Given the description of an element on the screen output the (x, y) to click on. 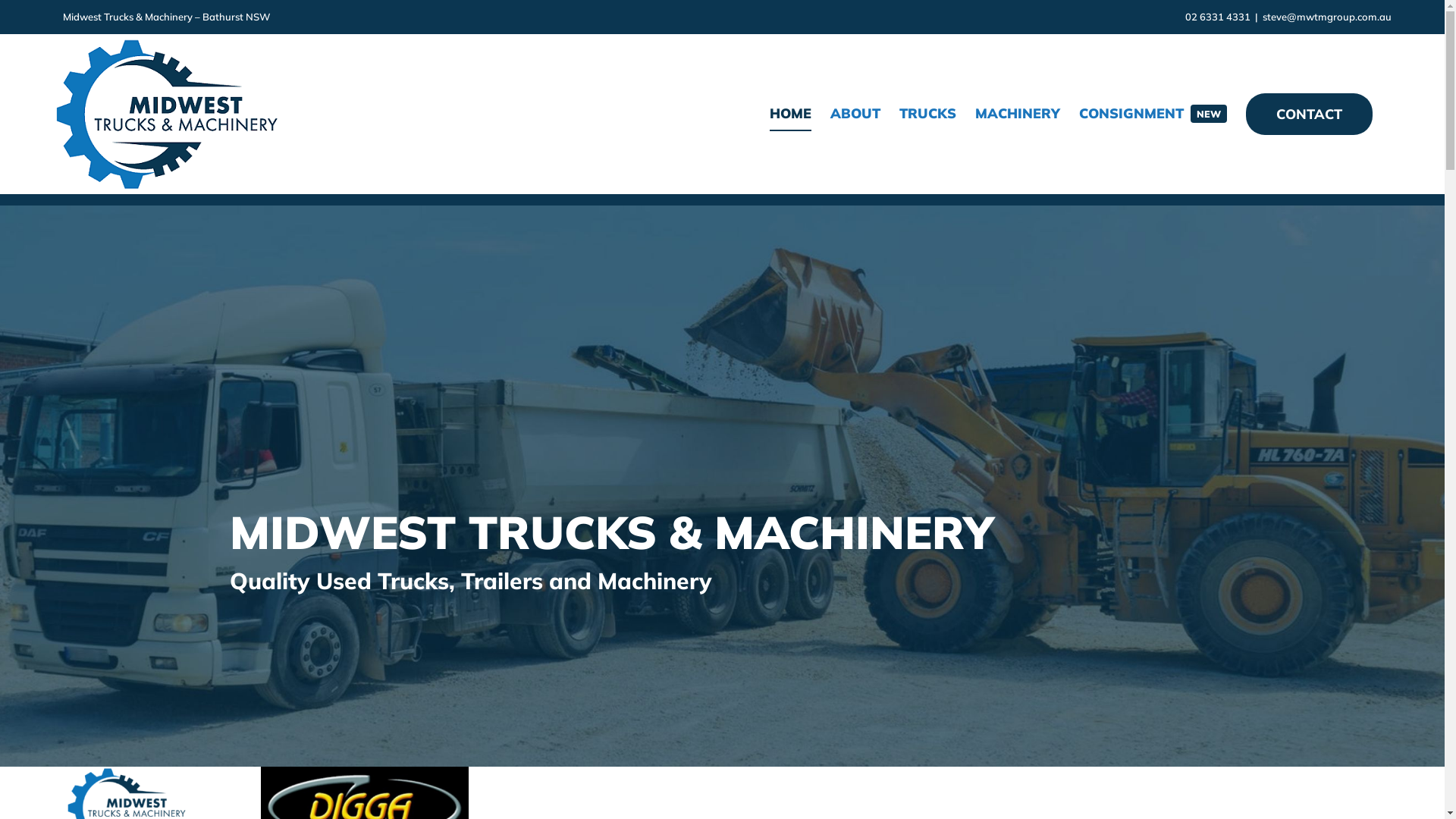
ABOUT Element type: text (855, 113)
HOME Element type: text (790, 113)
CONSIGNMENT
NEW Element type: text (1152, 113)
TRUCKS Element type: text (927, 113)
CONTACT Element type: text (1308, 113)
MACHINERY Element type: text (1017, 113)
steve@mwtmgroup.com.au Element type: text (1326, 16)
